Given the description of an element on the screen output the (x, y) to click on. 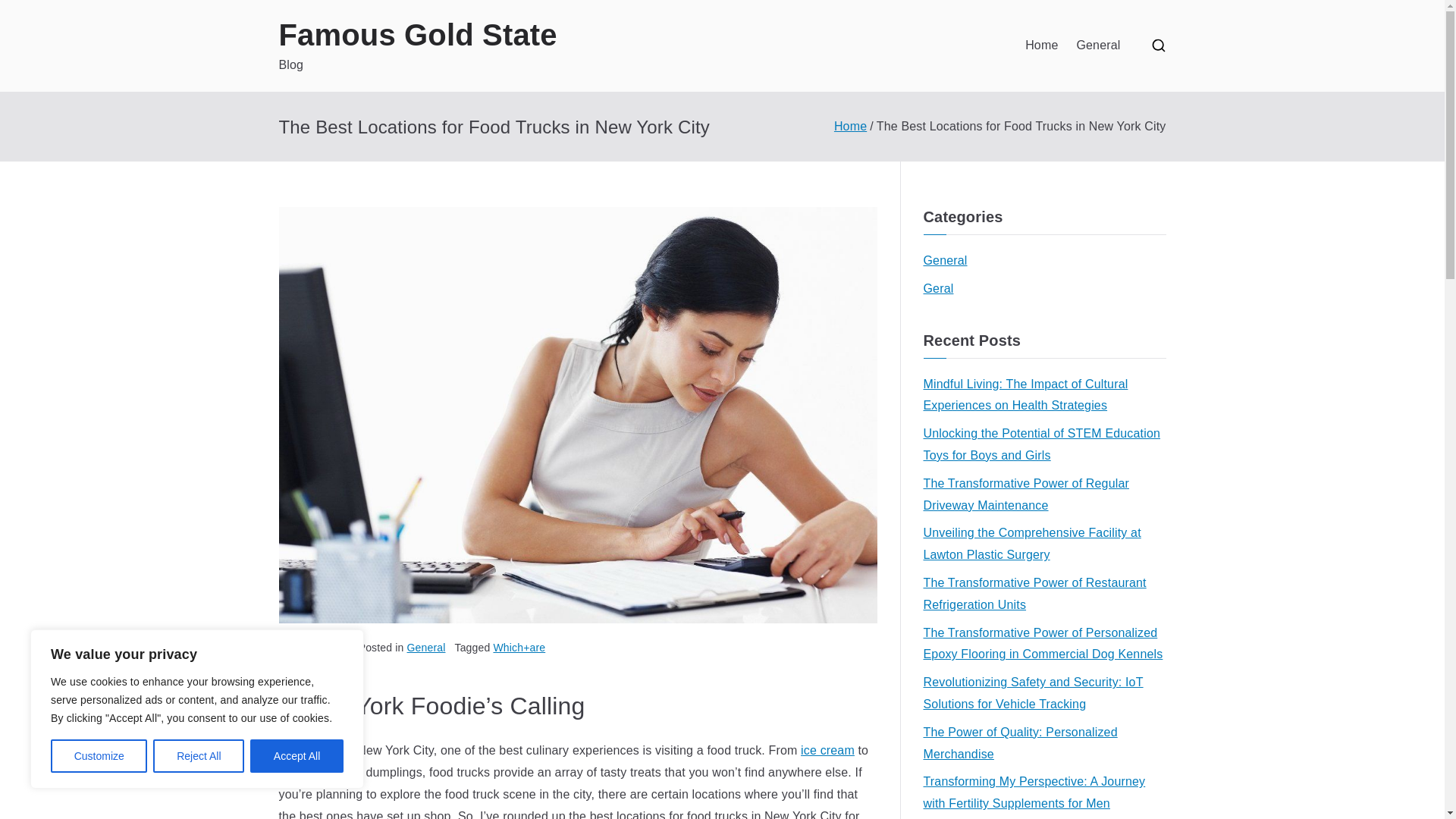
General (426, 647)
Famous Gold State (418, 34)
Reject All (198, 756)
General (1097, 45)
Customize (98, 756)
General (945, 260)
Home (1041, 45)
ice cream (827, 749)
Geral (938, 289)
